Given the description of an element on the screen output the (x, y) to click on. 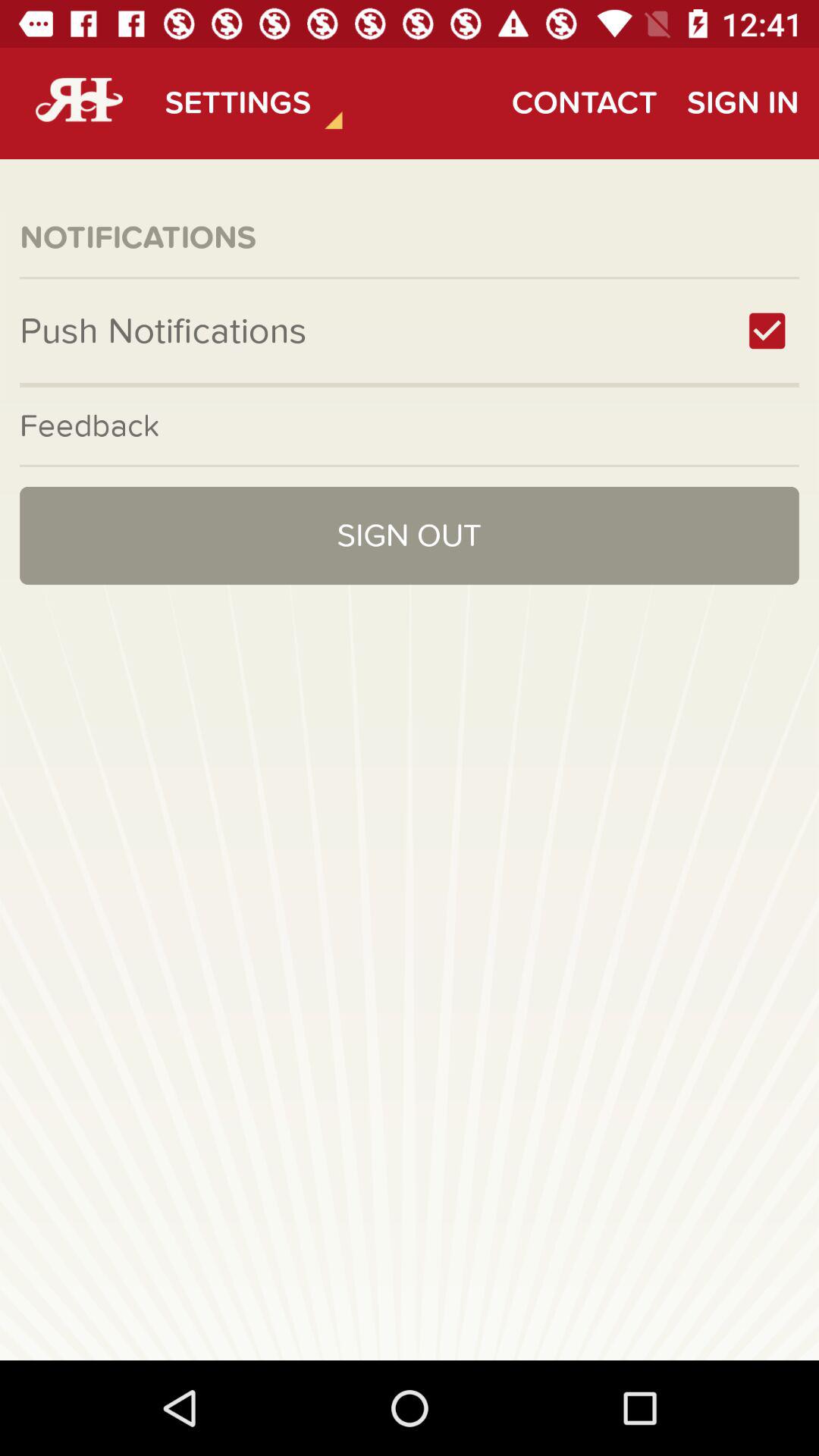
an interactive checkbox (767, 330)
